Given the description of an element on the screen output the (x, y) to click on. 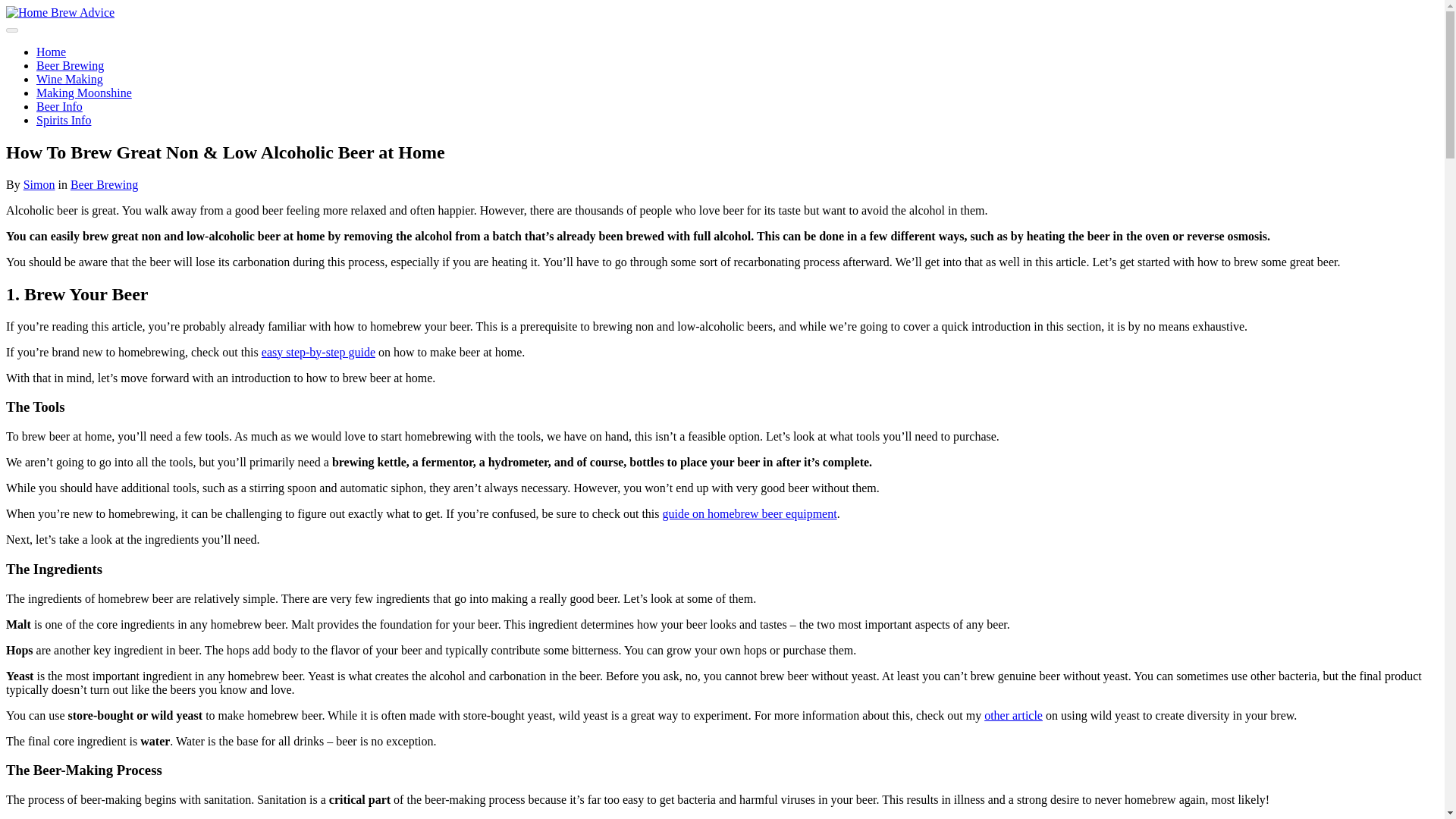
Beer Brewing (69, 65)
Beer Brewing (103, 184)
Beer Info (59, 106)
other article (1013, 714)
Simon (39, 184)
easy step-by-step guide (318, 351)
Wine Making (69, 78)
Spirits Info (63, 119)
Making Moonshine (84, 92)
guide on homebrew beer equipment (749, 513)
Home (50, 51)
